Given the description of an element on the screen output the (x, y) to click on. 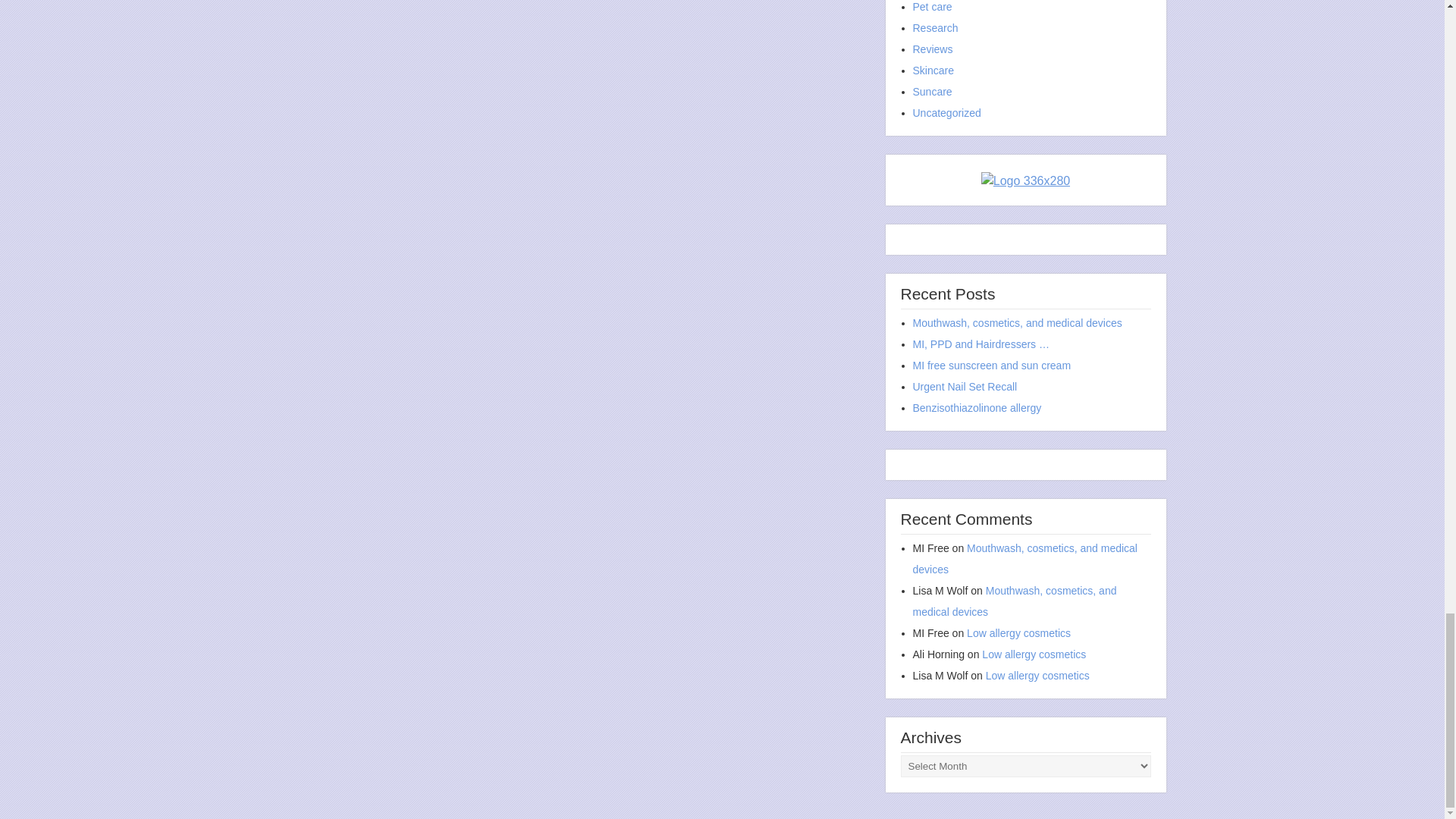
Logo 336x280 (1025, 179)
